Given the description of an element on the screen output the (x, y) to click on. 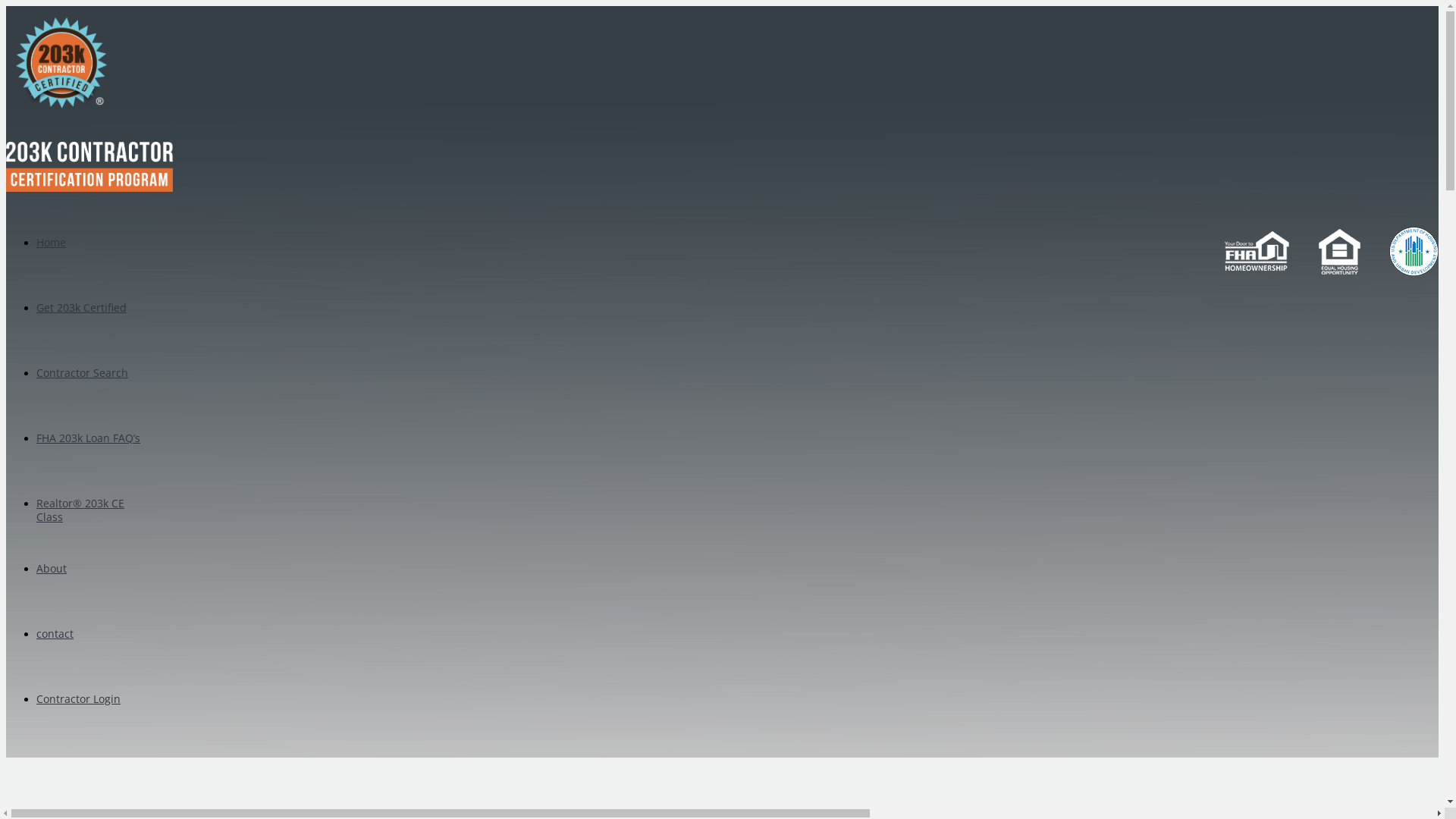
Contractor Search Element type: text (82, 372)
Home Element type: text (50, 242)
About Element type: text (51, 568)
Contractor Login Element type: text (78, 698)
Get 203k Certified Element type: text (81, 307)
contact Element type: text (54, 633)
